Given the description of an element on the screen output the (x, y) to click on. 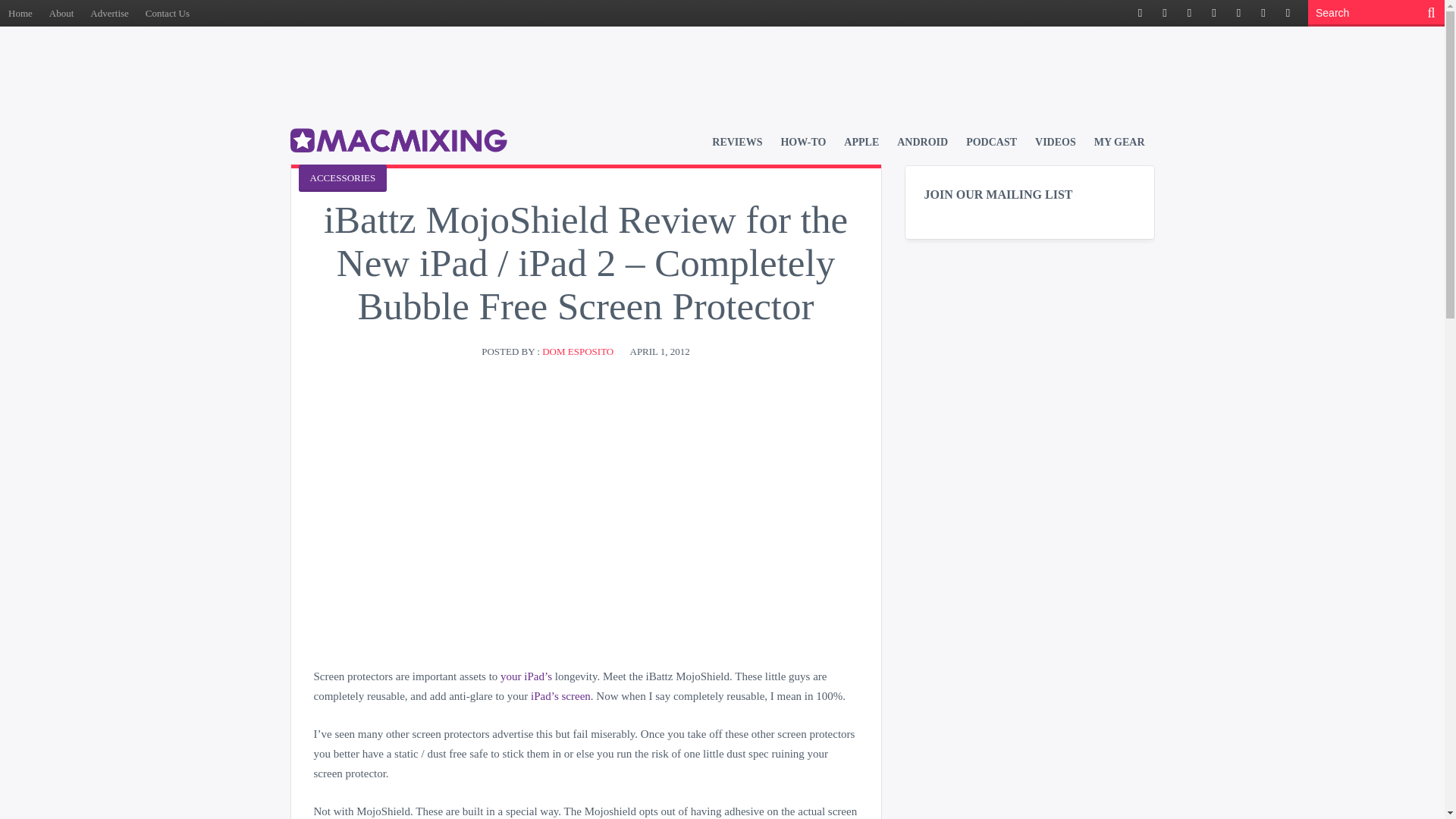
Twitter (1165, 13)
LinkedIn (1238, 13)
Advertise (108, 13)
Home (20, 13)
Posts by Dom Esposito (576, 351)
REVIEWS (736, 141)
About (61, 13)
Rss (1188, 13)
Facebook (1140, 13)
instagram (1287, 13)
